Given the description of an element on the screen output the (x, y) to click on. 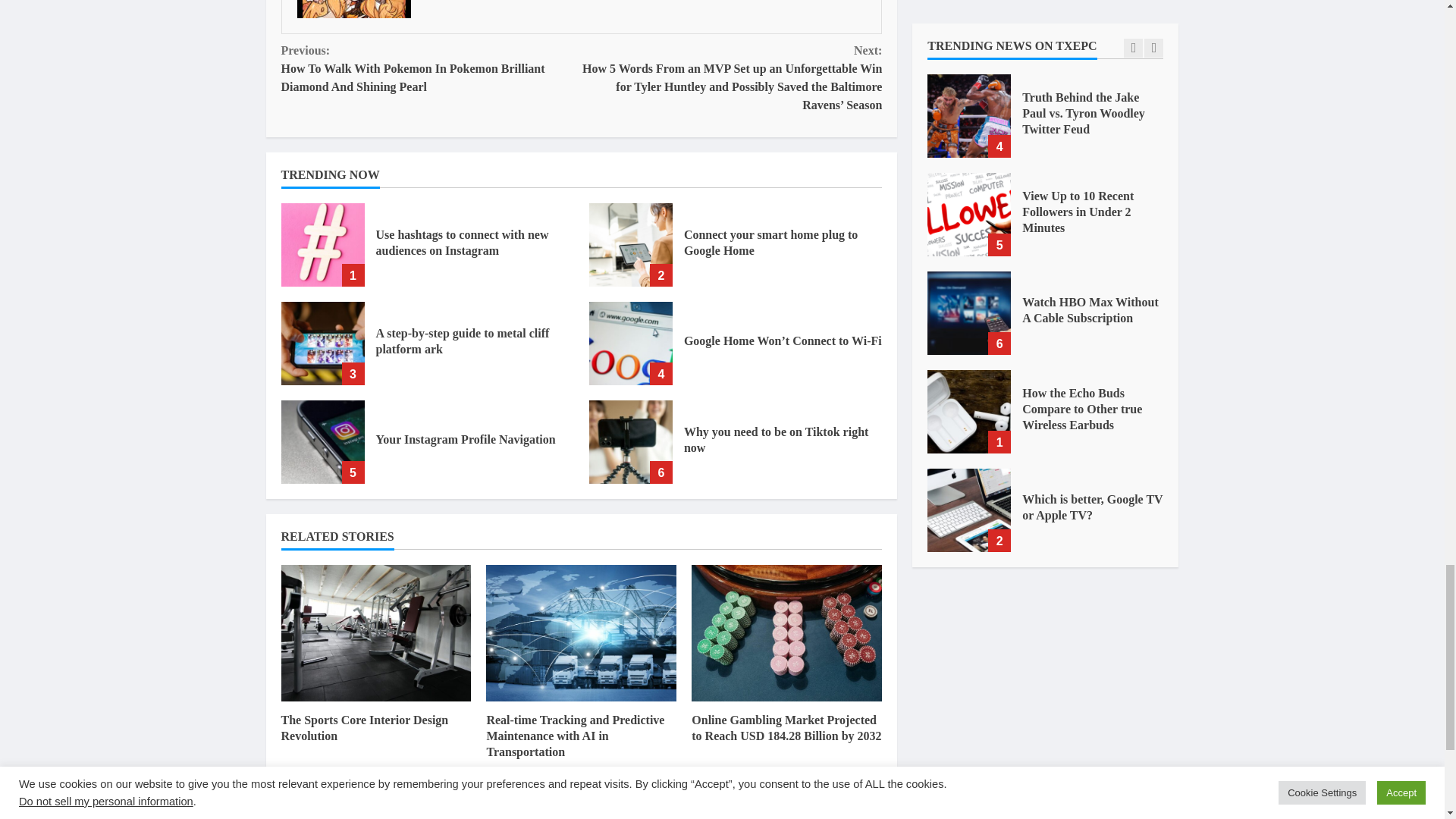
Use hashtags to connect with new audiences on Instagram (322, 244)
Connect your smart home plug to Google Home (770, 242)
Use hashtags to connect with new audiences on Instagram (461, 242)
Your Instagram Profile Navigation (322, 442)
Your Instagram Profile Navigation (465, 439)
The Sports Core Interior Design Revolution (364, 727)
Connect your smart home plug to Google Home (630, 244)
Why you need to be on Tiktok right now (775, 439)
A step-by-step guide to metal cliff platform ark (322, 343)
The Sports Core Interior Design Revolution (375, 633)
A step-by-step guide to metal cliff platform ark (462, 340)
